Given the description of an element on the screen output the (x, y) to click on. 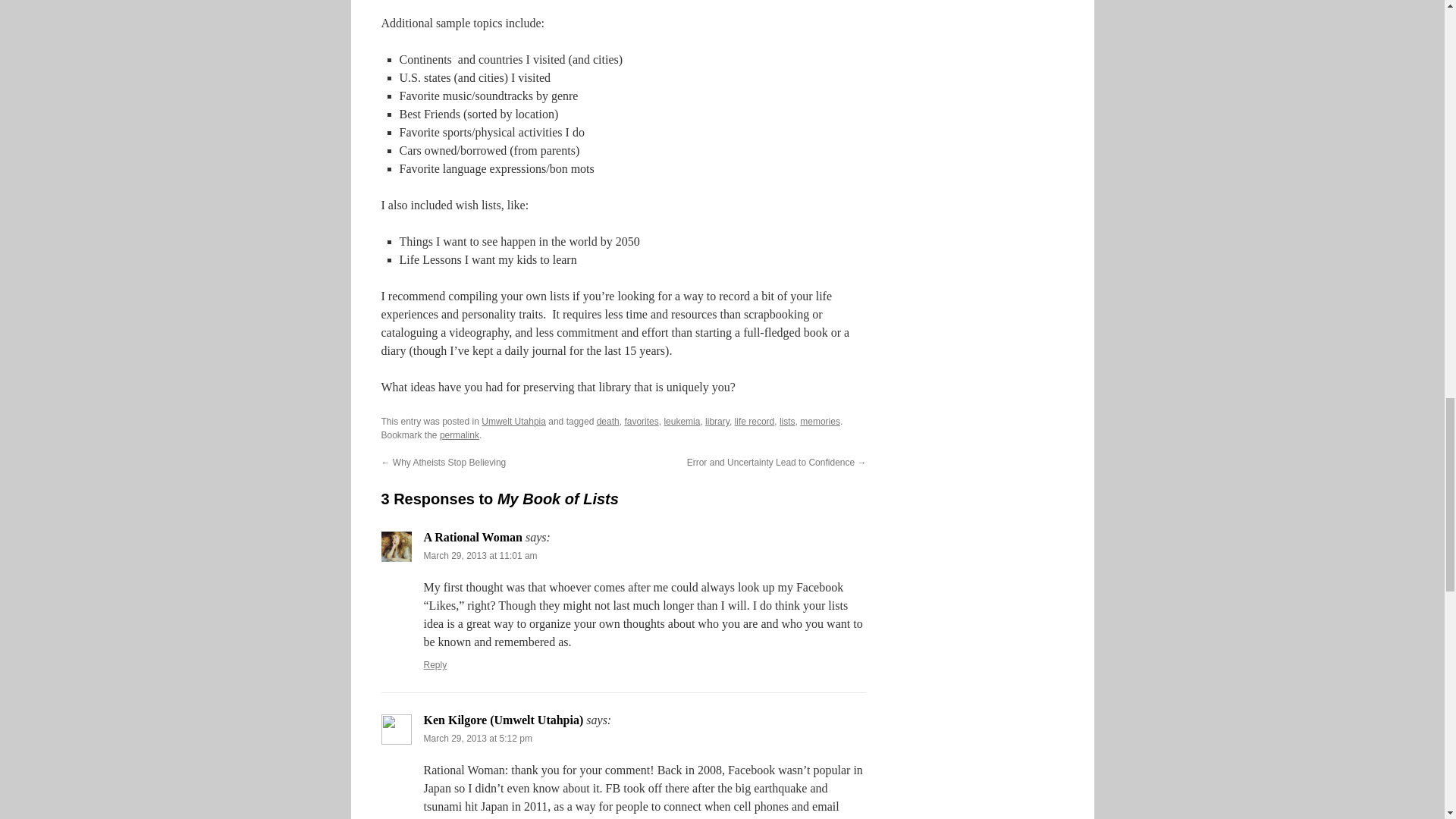
death (608, 421)
favorites (641, 421)
Reply (434, 665)
permalink (459, 434)
March 29, 2013 at 11:01 am (480, 555)
life record (754, 421)
memories (819, 421)
leukemia (681, 421)
March 29, 2013 at 5:12 pm (477, 738)
Permalink to My Book of Lists (459, 434)
